Given the description of an element on the screen output the (x, y) to click on. 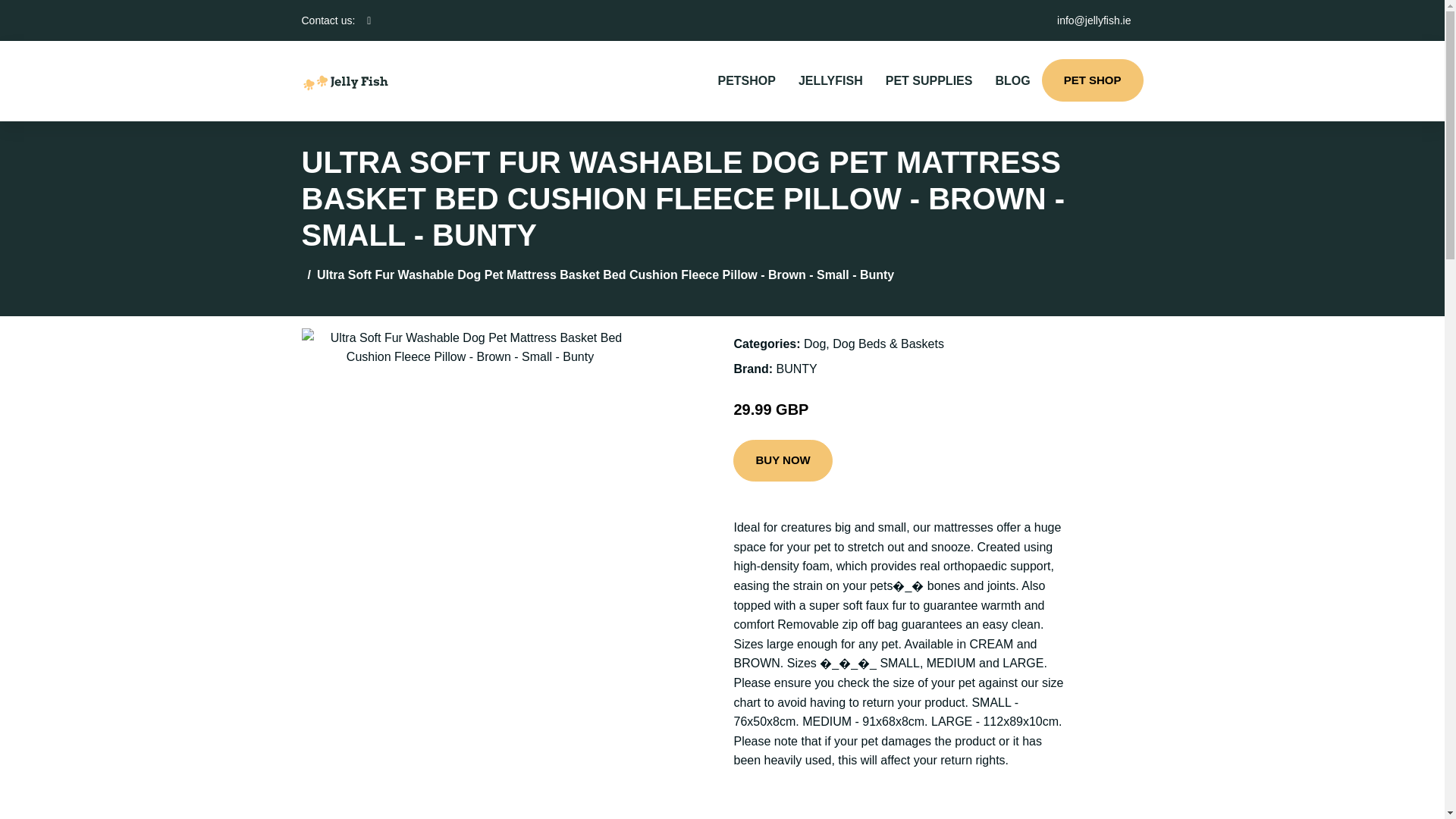
BUY NOW (782, 460)
PET SHOP (1092, 79)
Dog (814, 343)
PETSHOP (746, 80)
PET SUPPLIES (929, 80)
JELLYFISH (831, 80)
